Given the description of an element on the screen output the (x, y) to click on. 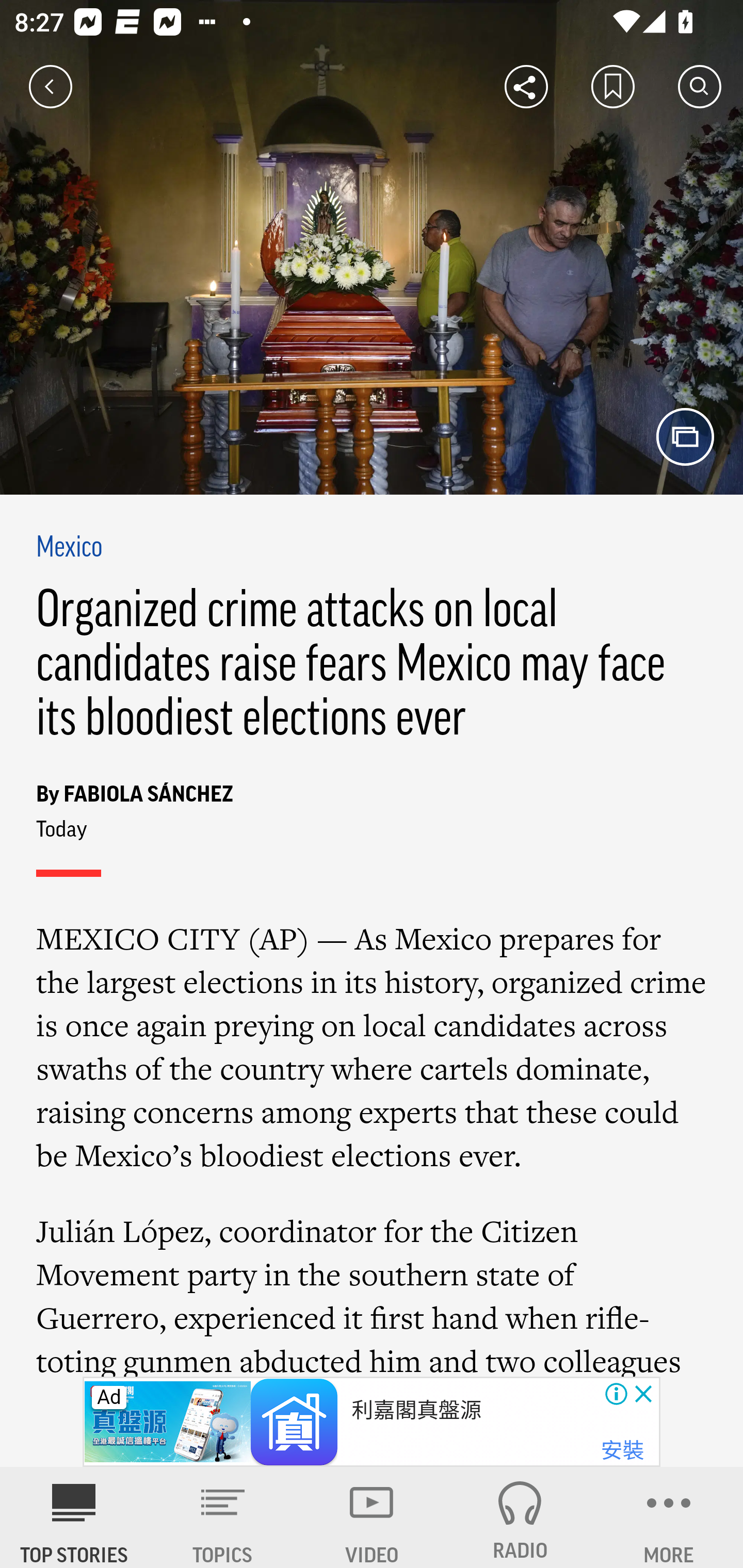
Mexico (69, 548)
利嘉閣真盤源 (416, 1410)
安裝 (621, 1450)
AP News TOP STORIES (74, 1517)
TOPICS (222, 1517)
VIDEO (371, 1517)
RADIO (519, 1517)
MORE (668, 1517)
